Given the description of an element on the screen output the (x, y) to click on. 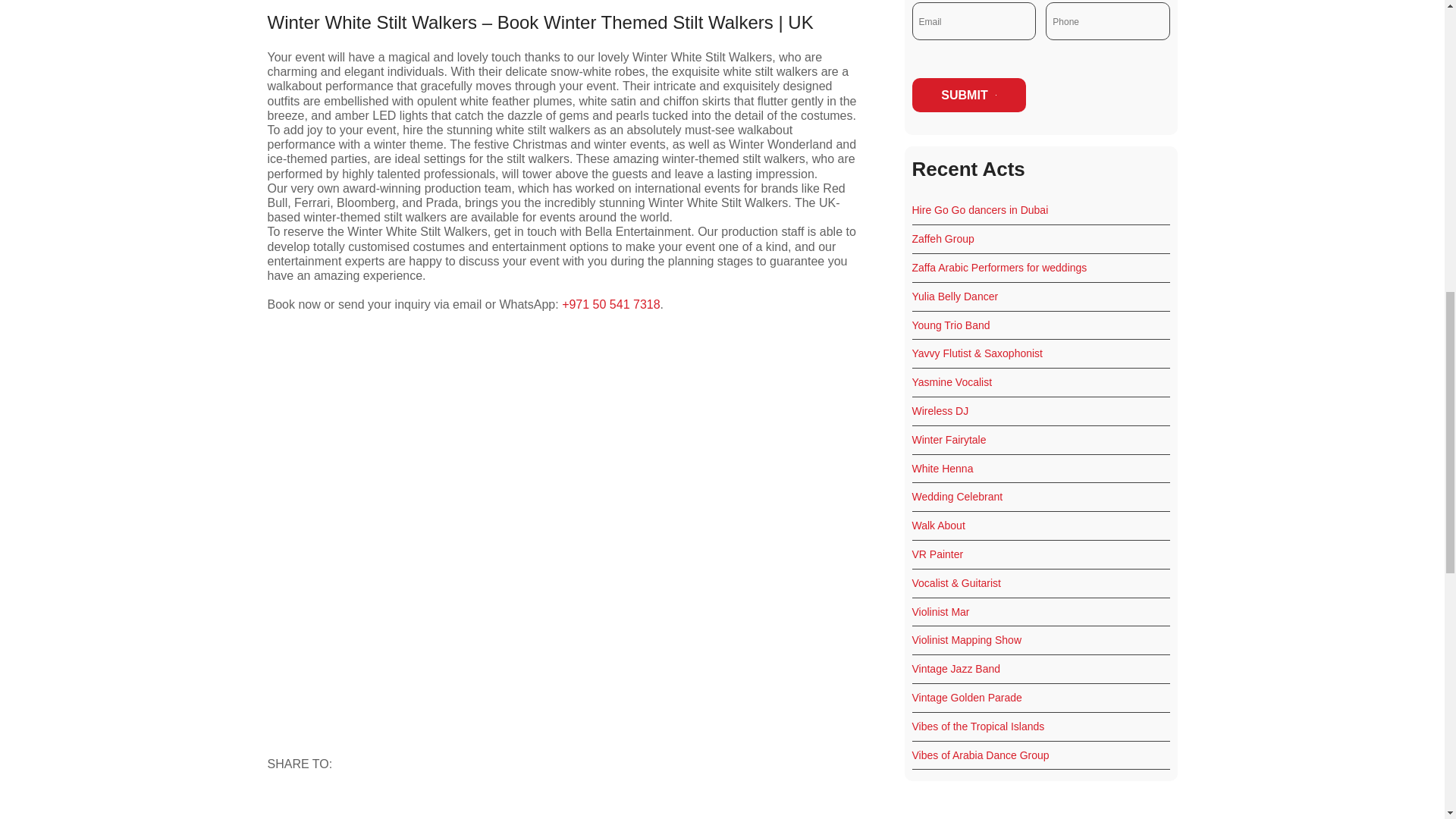
Follow by Email (284, 805)
Facebook (319, 805)
Twitter (352, 805)
WhatsApp (387, 805)
